Given the description of an element on the screen output the (x, y) to click on. 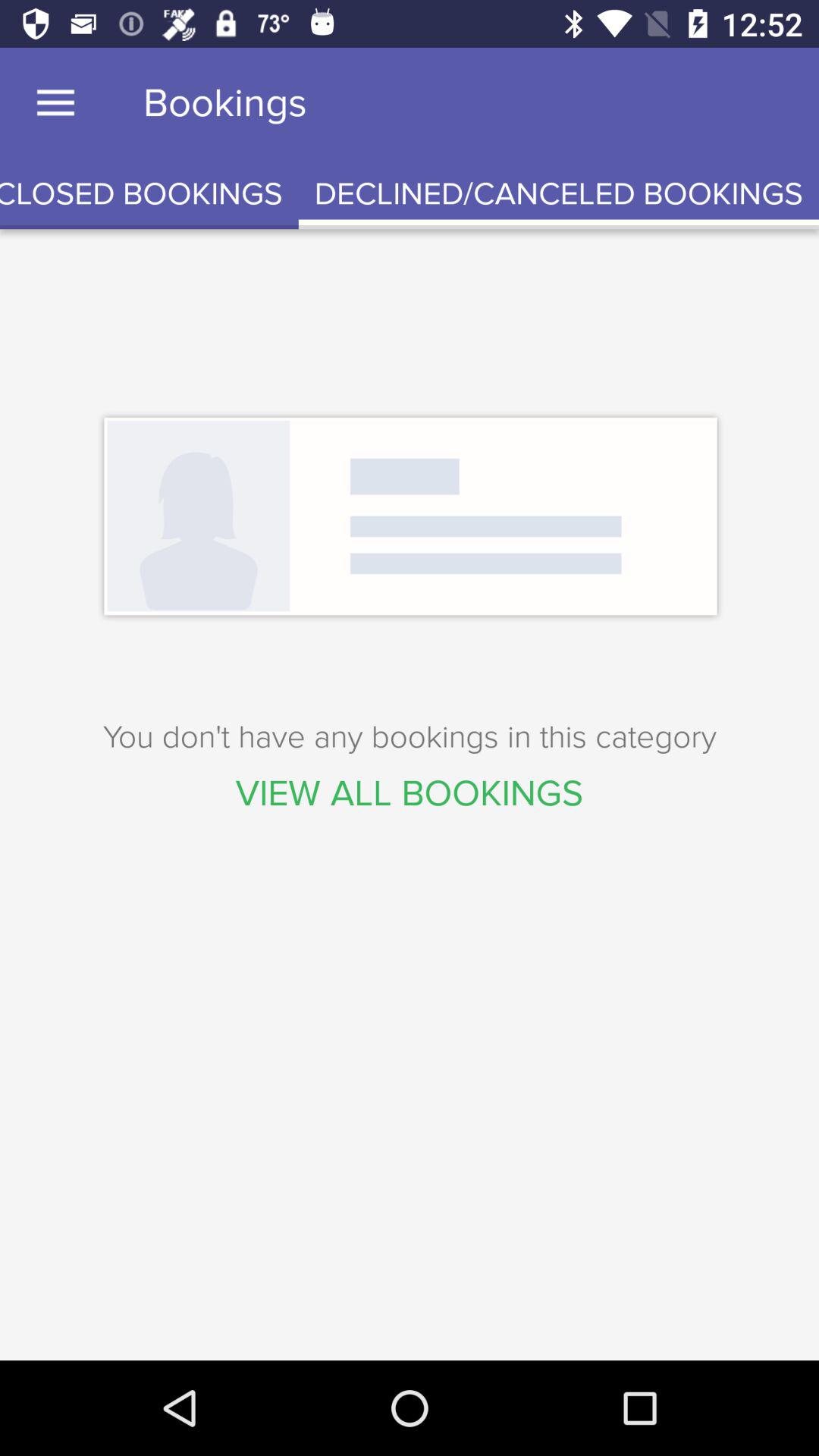
click declined/canceled bookings item (558, 194)
